Given the description of an element on the screen output the (x, y) to click on. 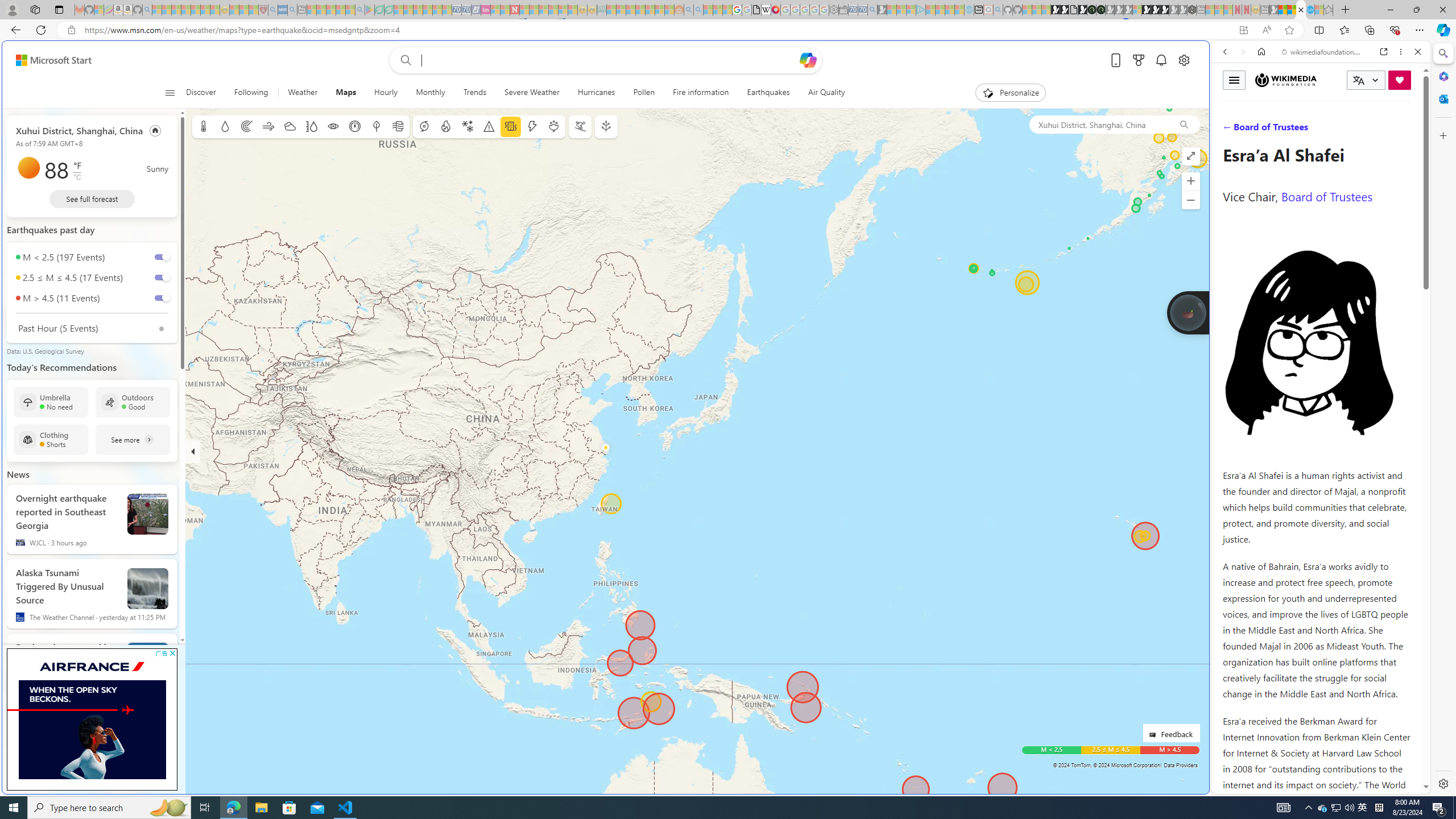
Cheap Hotels - Save70.com - Sleeping (466, 9)
Winter weather (467, 126)
Close Outlook pane (1442, 98)
Earthquakes (768, 92)
Search Filter, VIDEOS (1300, 129)
Earthquakes (768, 92)
Discover (205, 92)
google_privacy_policy_zh-CN.pdf (755, 9)
Monthly (430, 92)
